Given the description of an element on the screen output the (x, y) to click on. 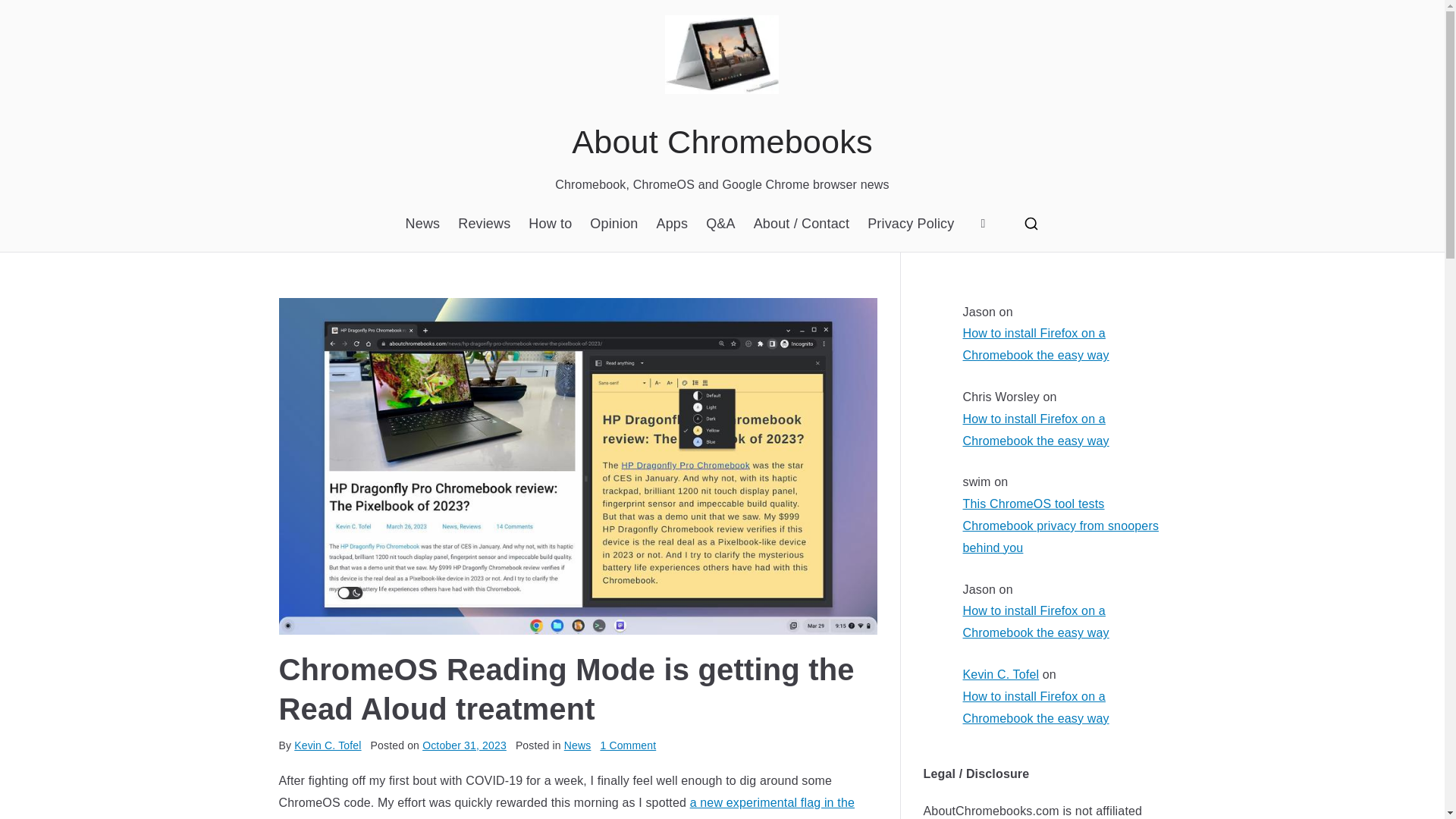
Privacy Policy (910, 223)
Search (26, 12)
Apps (672, 223)
How to (550, 223)
News (577, 745)
About Chromebooks (722, 141)
ChromeOS Reading Mode (452, 818)
Reviews (484, 223)
Opinion (613, 223)
October 31, 2023 (464, 745)
Kevin C. Tofel (327, 745)
